Given the description of an element on the screen output the (x, y) to click on. 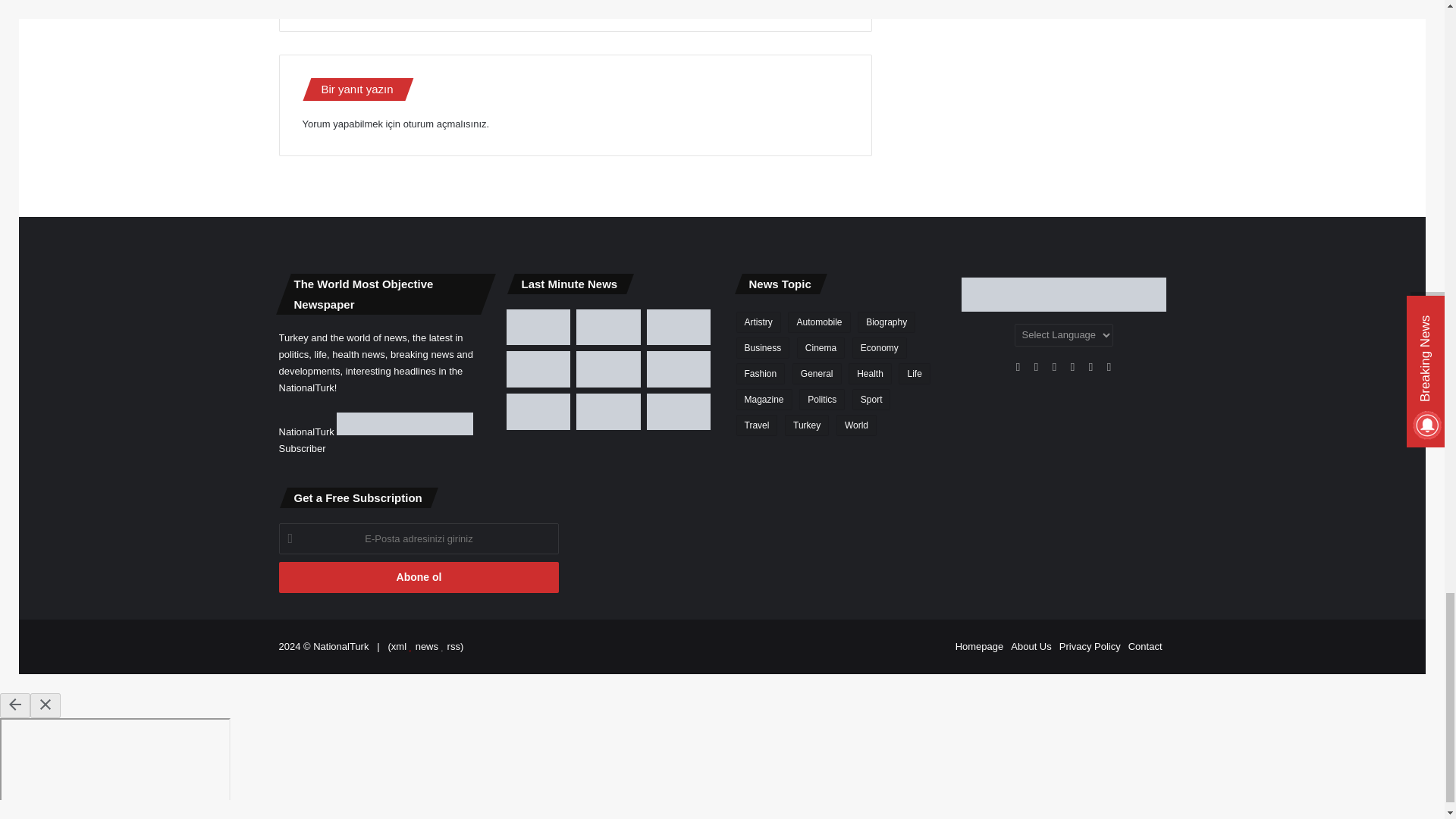
Abone ol (419, 576)
